Given the description of an element on the screen output the (x, y) to click on. 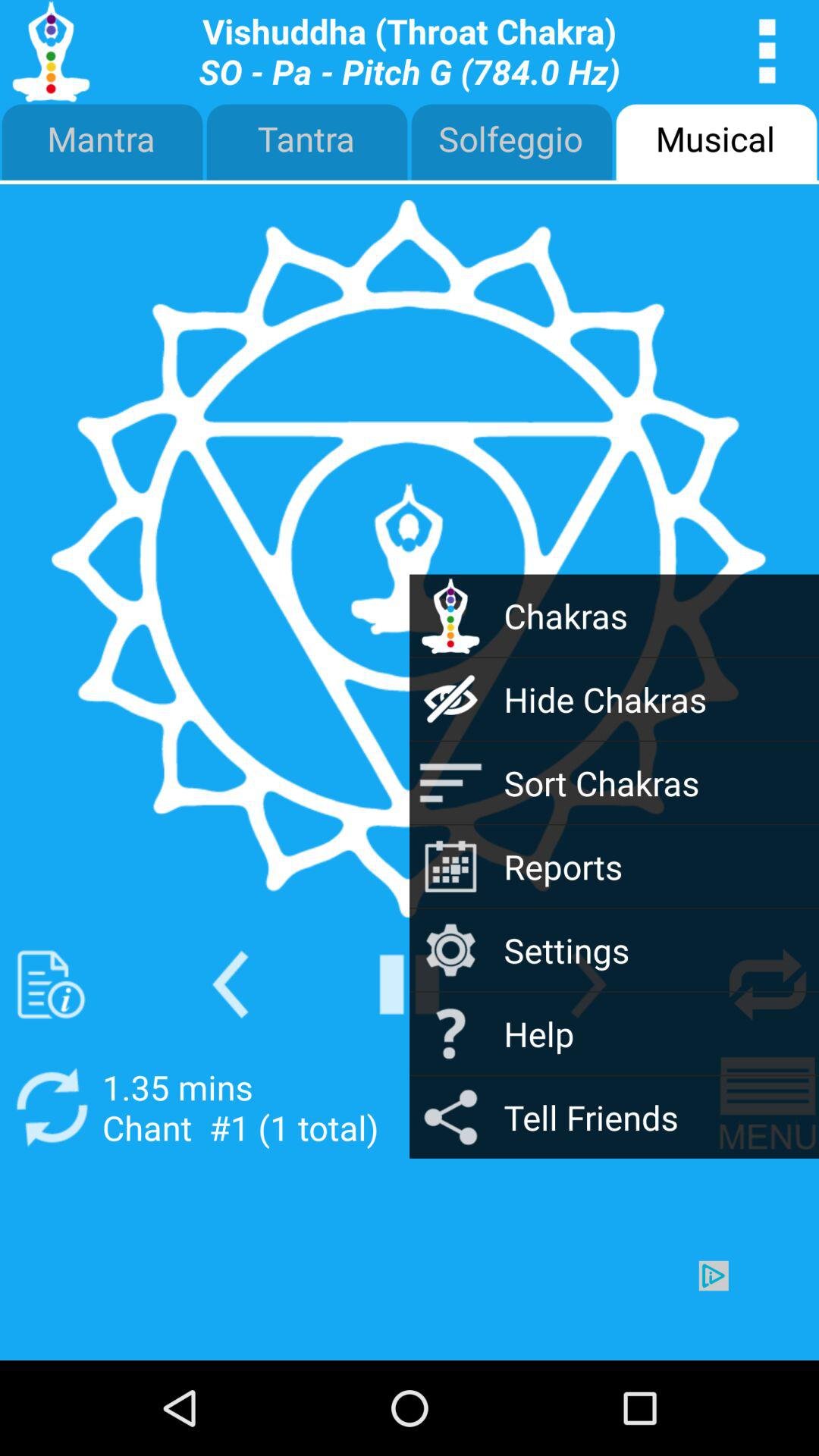
apps (767, 51)
